Given the description of an element on the screen output the (x, y) to click on. 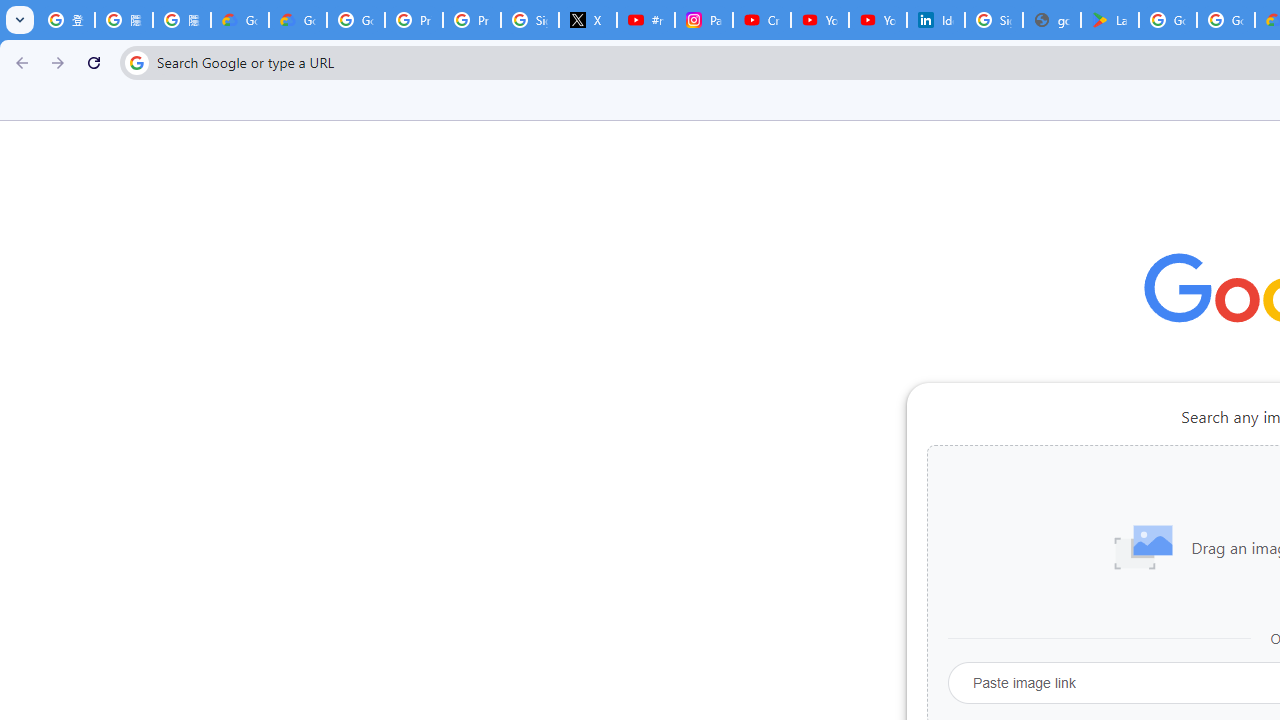
Last Shelter: Survival - Apps on Google Play (1110, 20)
Google Cloud Privacy Notice (239, 20)
